Given the description of an element on the screen output the (x, y) to click on. 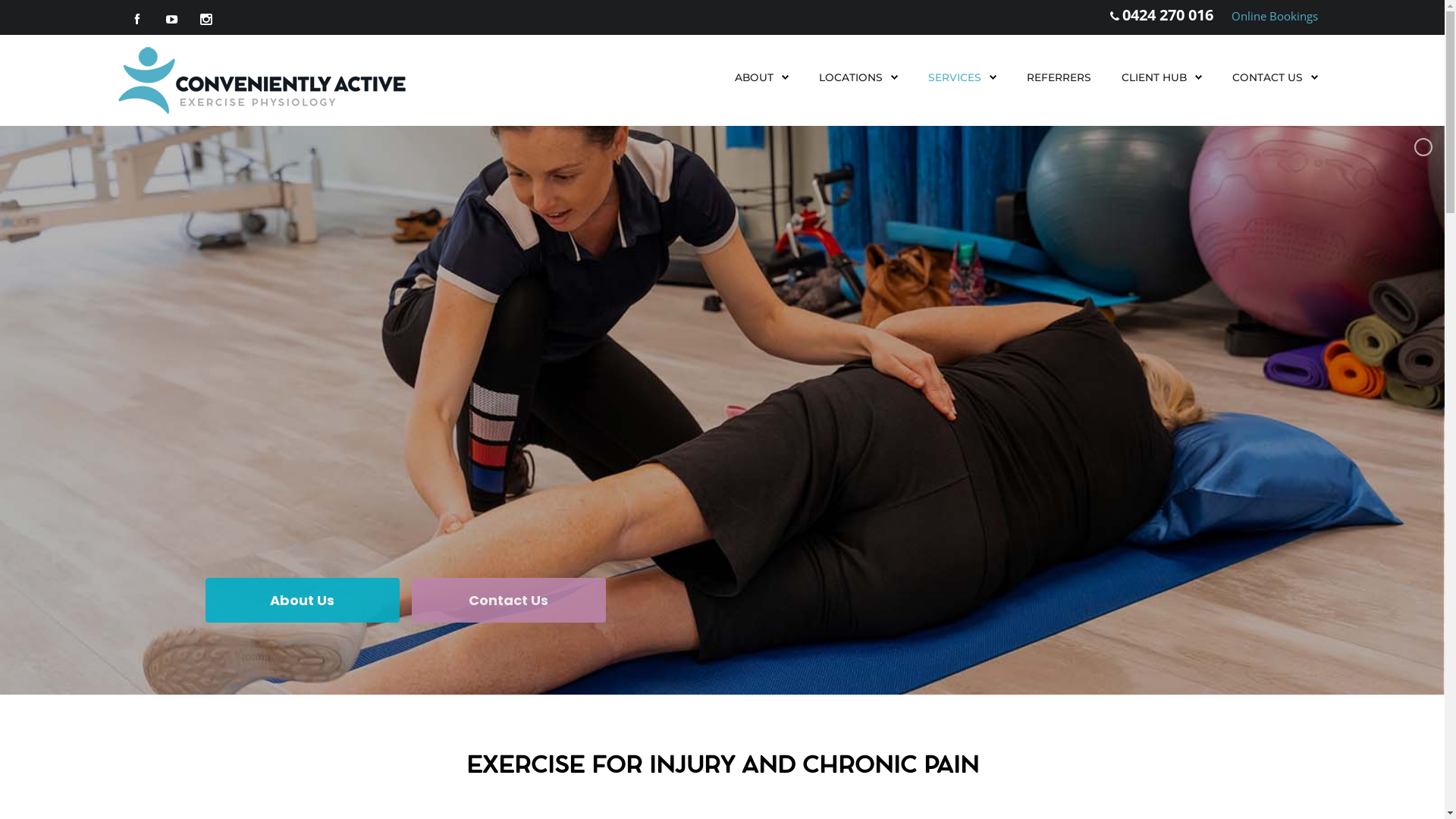
SERVICES Element type: text (954, 77)
LOCATIONS Element type: text (858, 76)
CLIENT HUB Element type: text (1153, 77)
what is exersice phys Element type: hover (722, 410)
LOCATIONS Element type: text (850, 77)
0424 270 016 Element type: text (1167, 14)
CONTACT US Element type: text (1266, 77)
REFERRERS Element type: text (1058, 77)
CLIENT HUB Element type: text (1160, 76)
Online Bookings Element type: text (1274, 15)
SERVICES Element type: text (962, 76)
ABOUT Element type: text (753, 77)
REFERRERS Element type: text (1058, 76)
CONTACT US Element type: text (1274, 76)
ABOUT Element type: text (760, 76)
